Given the description of an element on the screen output the (x, y) to click on. 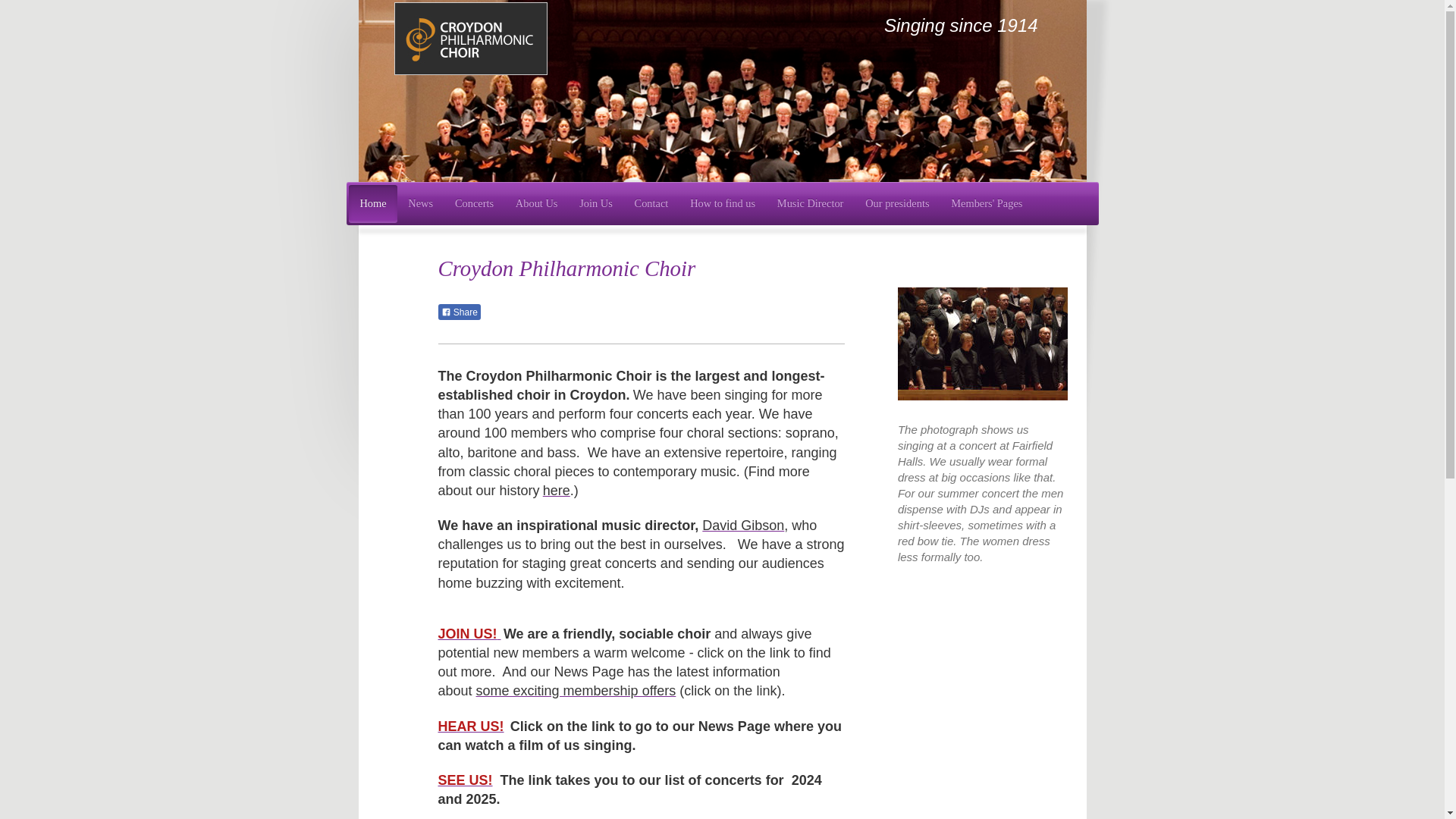
News (420, 203)
Singing since 1914   (965, 25)
About Us (535, 203)
Join Us (596, 203)
Concerts (474, 203)
Our presidents (897, 203)
Share (459, 311)
Members' Pages (986, 203)
here (556, 490)
Contact (651, 203)
